Given the description of an element on the screen output the (x, y) to click on. 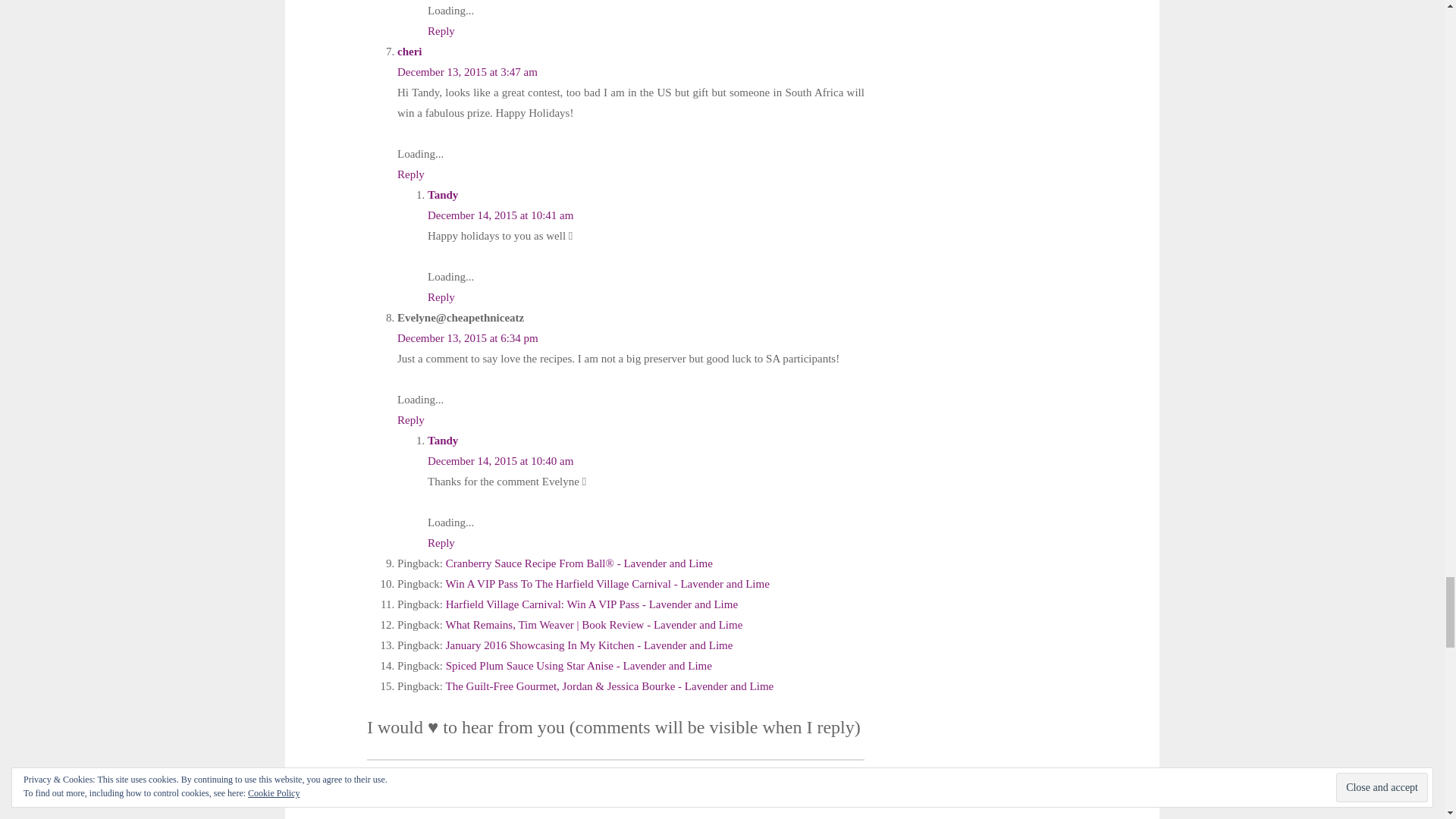
Comment Form (615, 789)
